Given the description of an element on the screen output the (x, y) to click on. 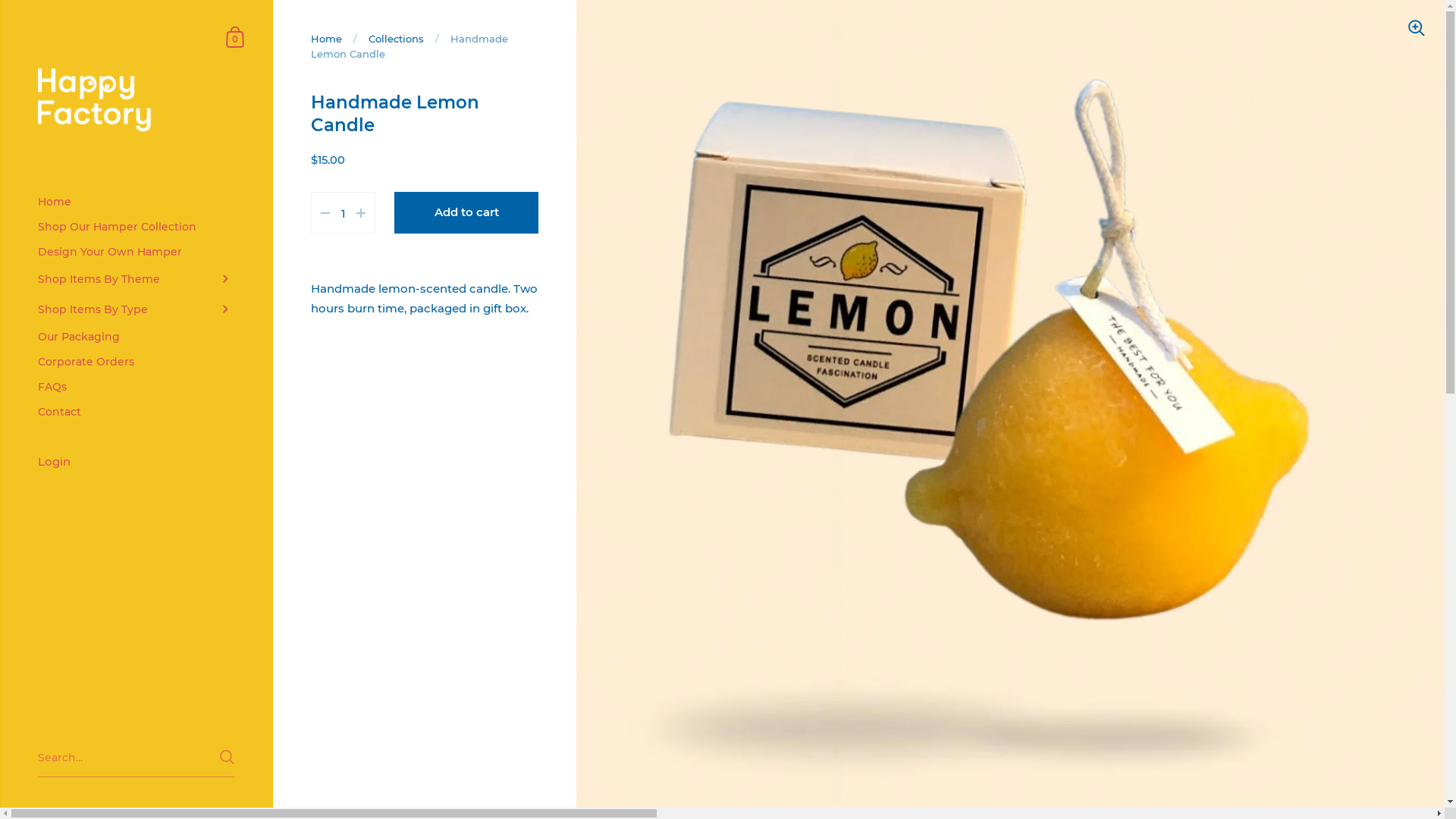
Shop Items By Type Element type: text (136, 309)
Our Packaging Element type: text (136, 336)
Collections Element type: text (395, 38)
Add to cart Element type: text (466, 212)
0 Element type: text (235, 36)
Design Your Own Hamper Element type: text (136, 251)
Contact Element type: text (136, 411)
Shop Items By Theme Element type: text (136, 278)
Home Element type: text (136, 201)
Corporate Orders Element type: text (136, 361)
Login Element type: text (136, 462)
Home Element type: text (326, 38)
FAQs Element type: text (136, 386)
Shop Our Hamper Collection Element type: text (136, 226)
